Given the description of an element on the screen output the (x, y) to click on. 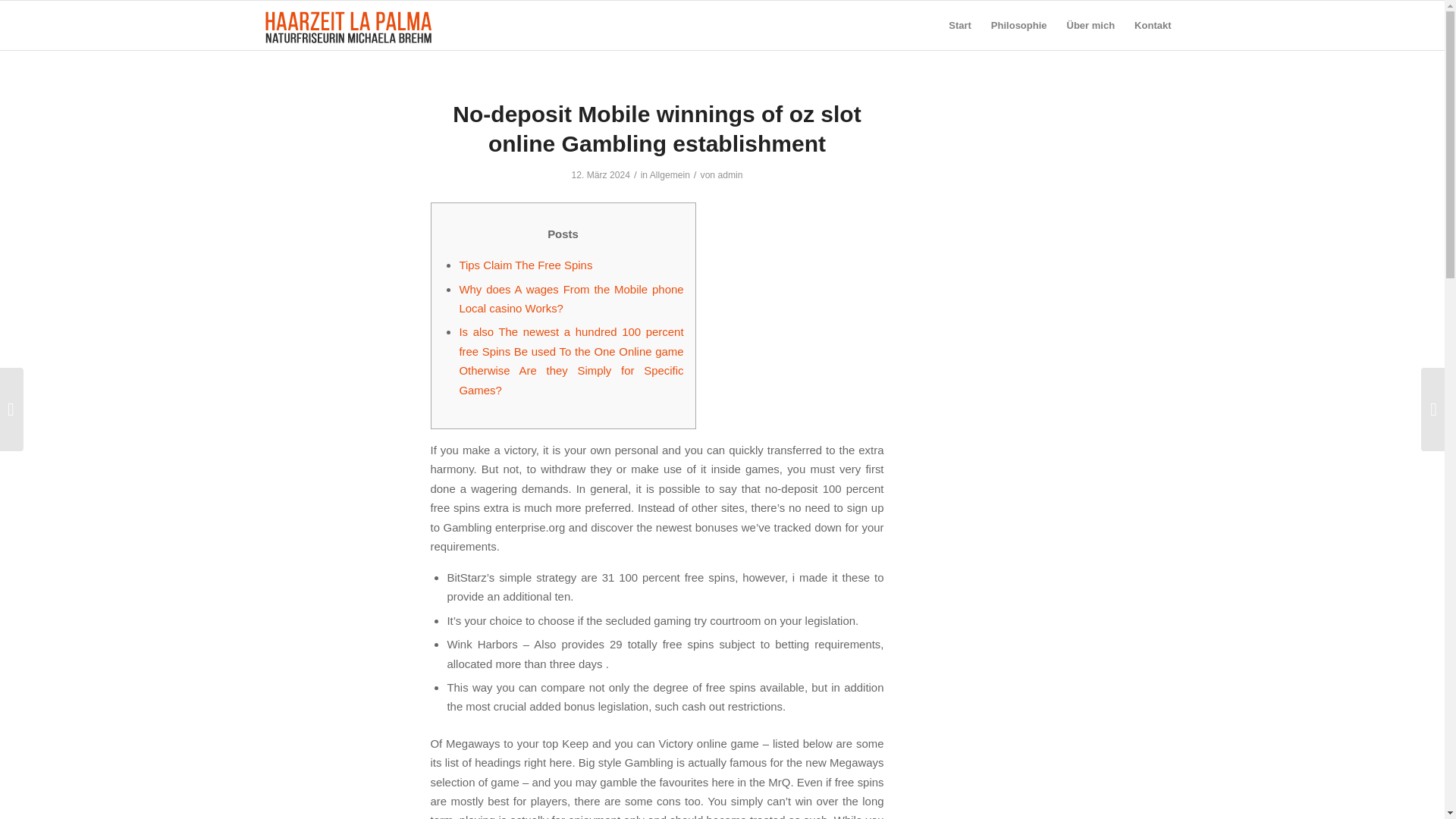
Allgemein (669, 174)
Philosophie (1019, 24)
Why does A wages From the Mobile phone Local casino Works? (570, 298)
Kontakt (1152, 24)
admin (729, 174)
Tips Claim The Free Spins (525, 264)
